Given the description of an element on the screen output the (x, y) to click on. 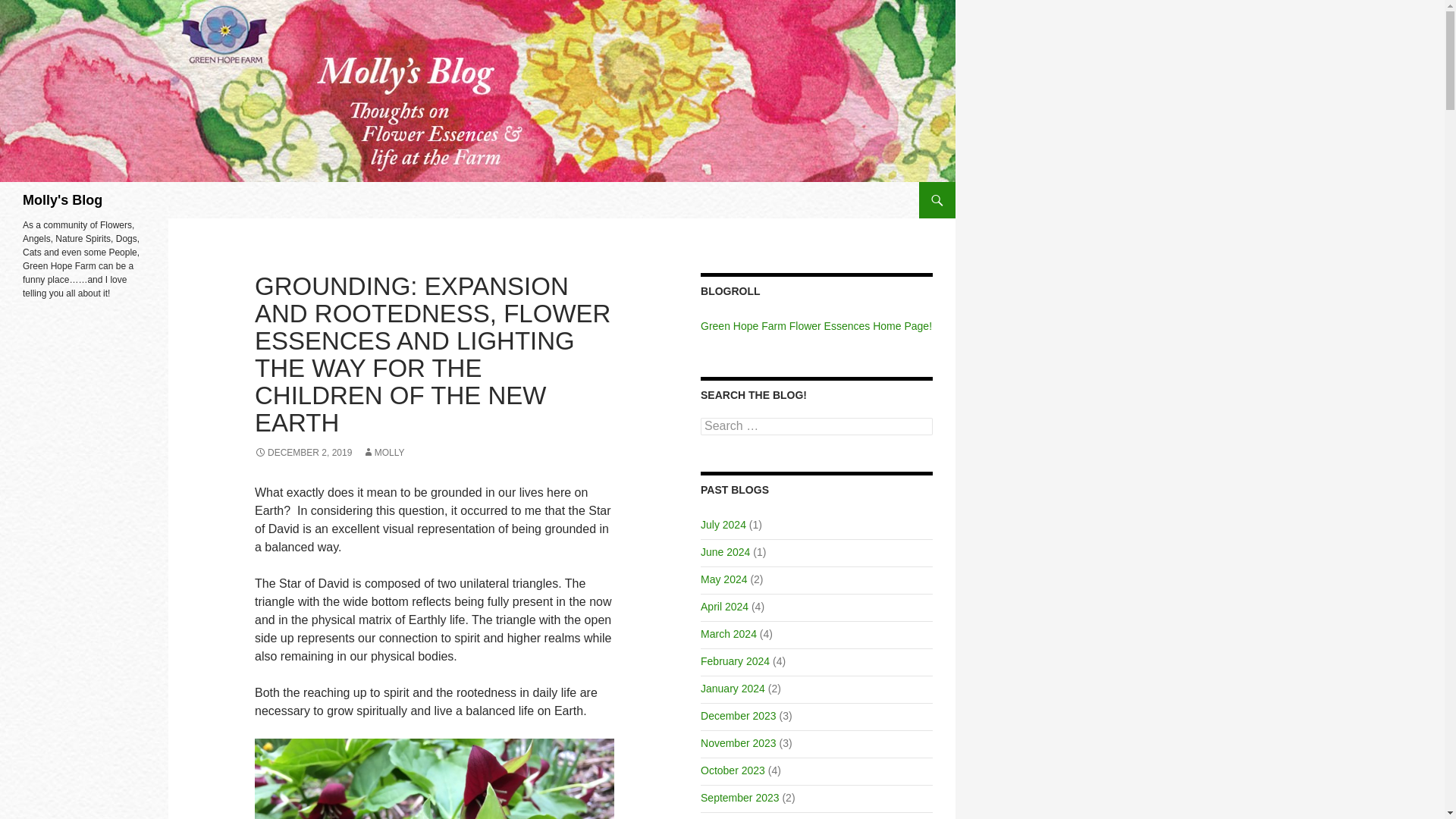
June 2024 (724, 551)
October 2023 (732, 770)
January 2024 (732, 688)
Search (30, 8)
July 2024 (722, 524)
April 2024 (724, 606)
Page 1 (434, 651)
May 2024 (723, 579)
Go Back to the Green Hope Farm Web Page! (815, 326)
SKIP TO CONTENT (964, 187)
MOLLY (383, 452)
November 2023 (738, 743)
Molly's Blog (62, 199)
September 2023 (739, 797)
DECEMBER 2, 2019 (303, 452)
